Given the description of an element on the screen output the (x, y) to click on. 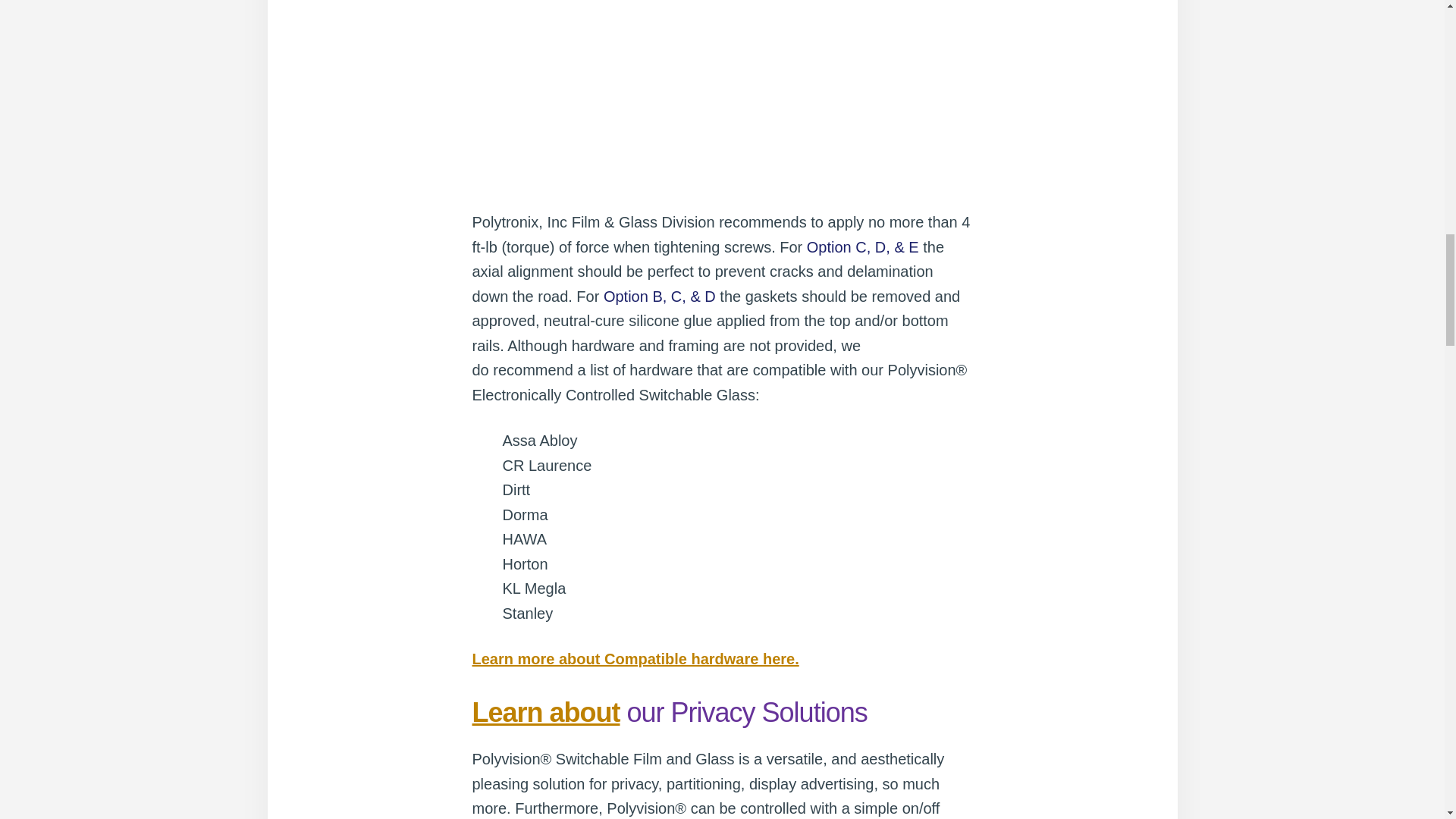
Learn more about Compatible hardware here. (634, 658)
Learn about (545, 712)
